Given the description of an element on the screen output the (x, y) to click on. 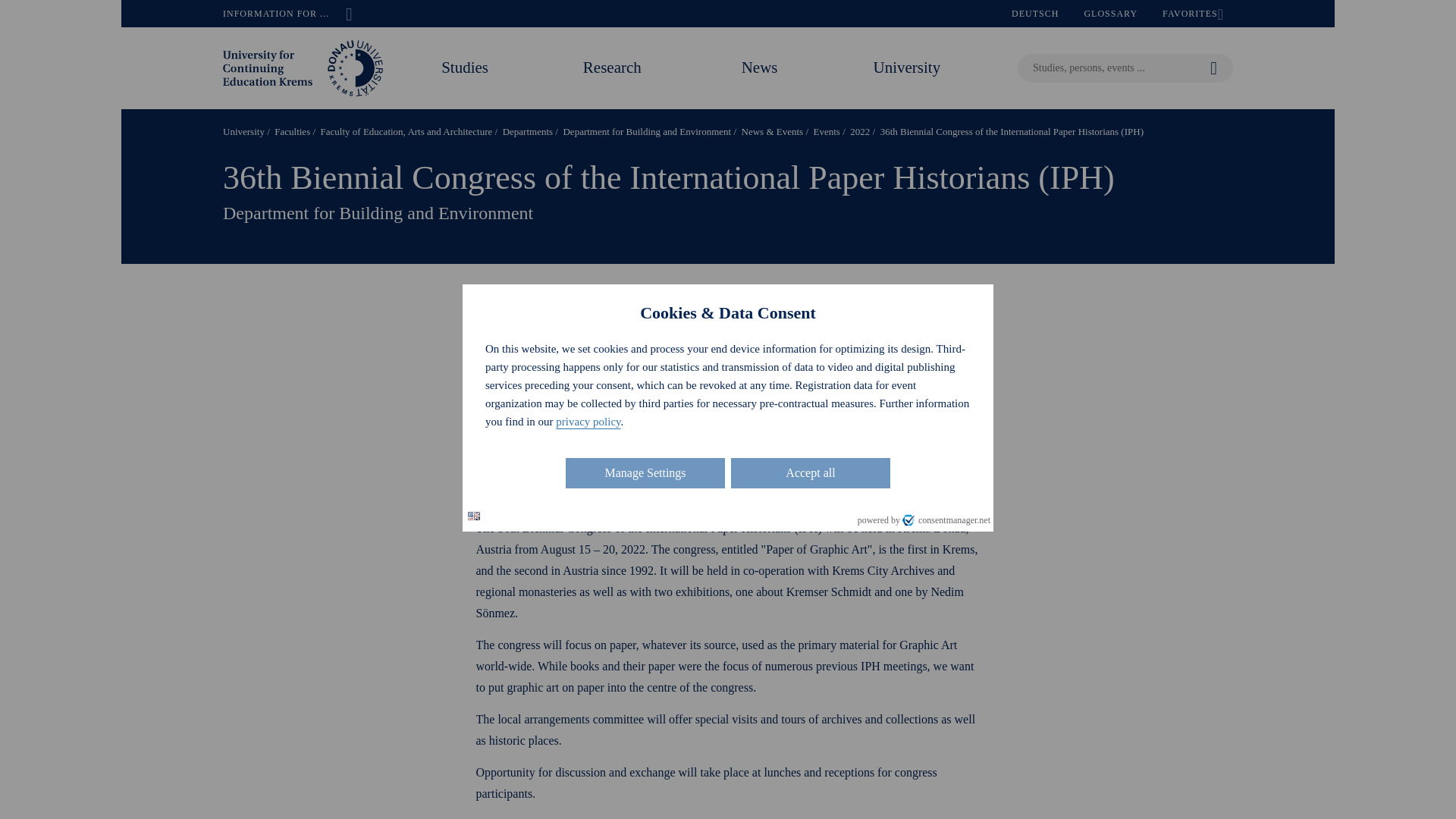
Studies (464, 67)
Manage Settings (645, 472)
INFORMATION FOR ... (286, 13)
consentmanager.net (946, 520)
privacy policy (588, 421)
Language: en (473, 515)
University for Continuing Education Krems (303, 66)
Language: en (473, 515)
GLOSSARY (1109, 13)
DEUTSCH (1035, 13)
